Given the description of an element on the screen output the (x, y) to click on. 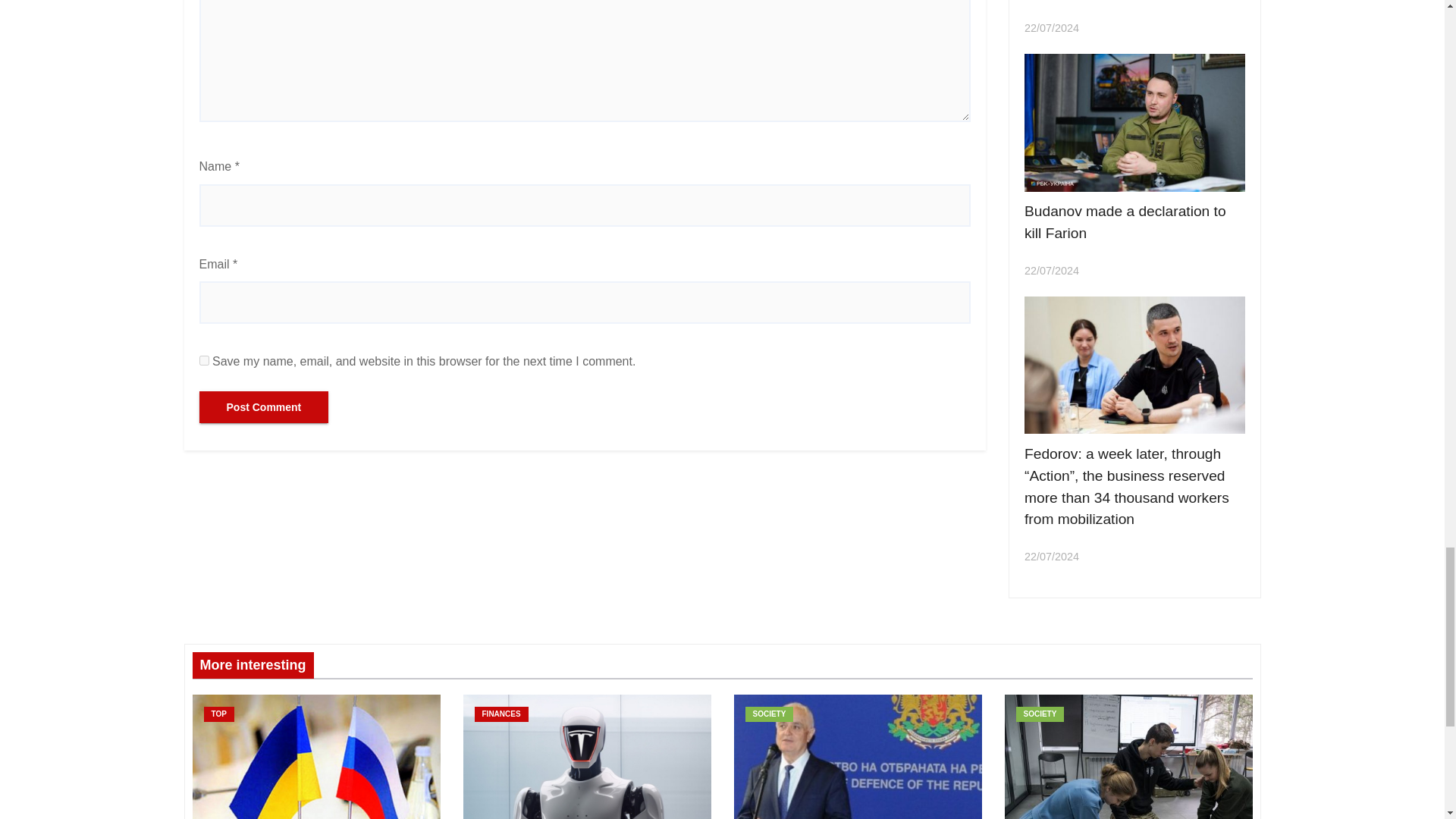
yes (203, 360)
Post Comment (263, 407)
